Given the description of an element on the screen output the (x, y) to click on. 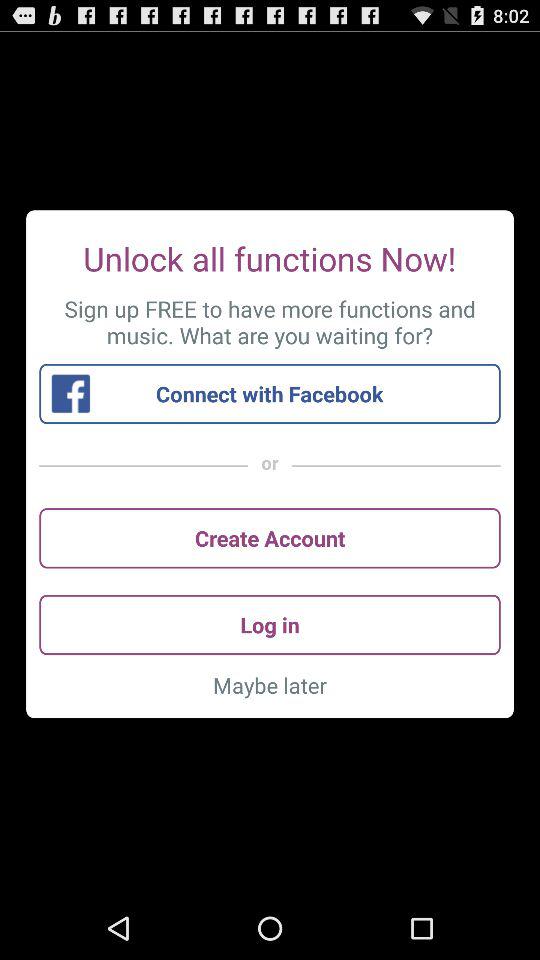
tap the maybe later item (269, 685)
